Given the description of an element on the screen output the (x, y) to click on. 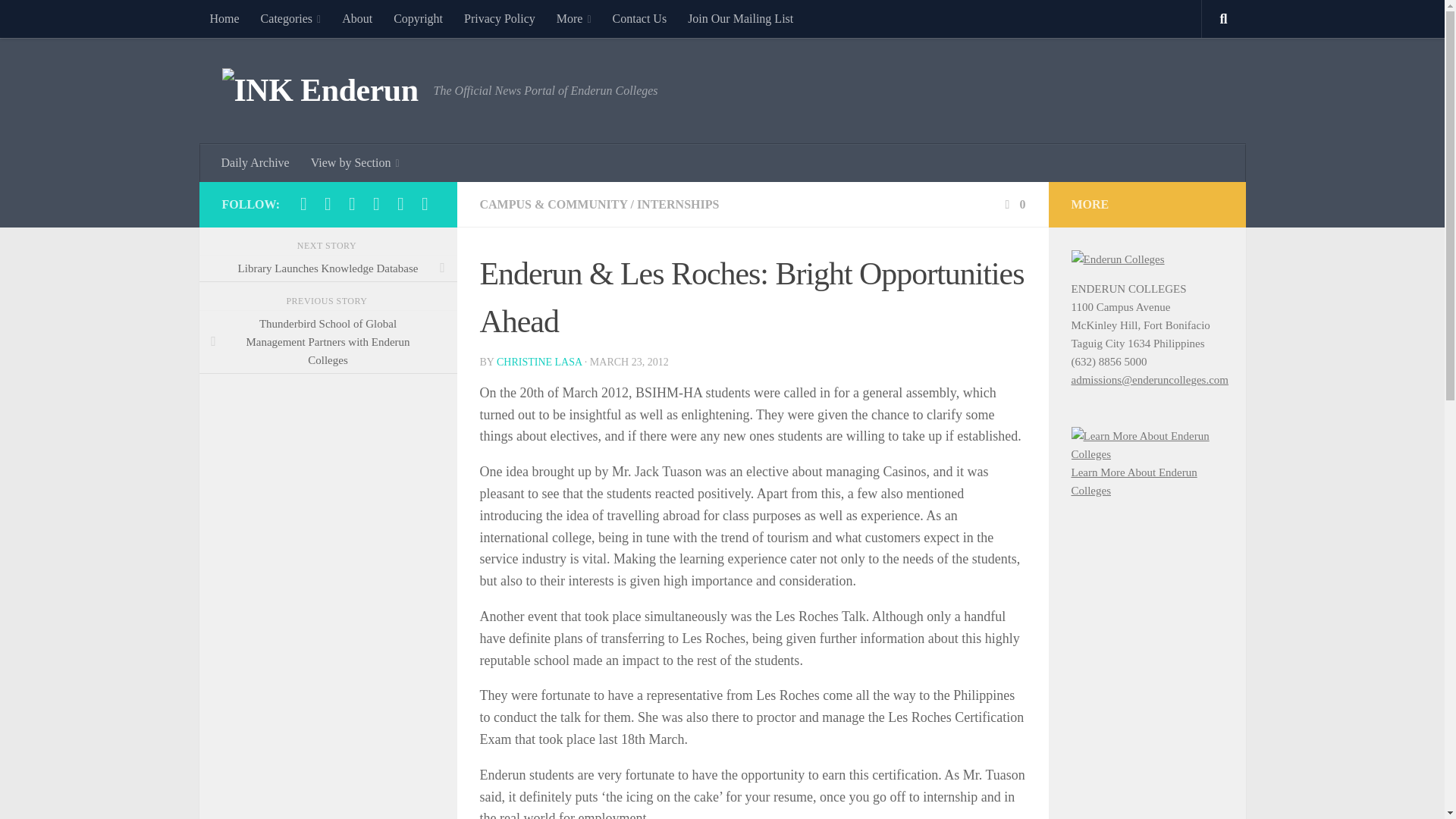
About (356, 18)
Categories (290, 18)
Copyright (417, 18)
Home (223, 18)
Skip to content (59, 20)
Privacy Policy (499, 18)
Contact Us (640, 18)
